Given the description of an element on the screen output the (x, y) to click on. 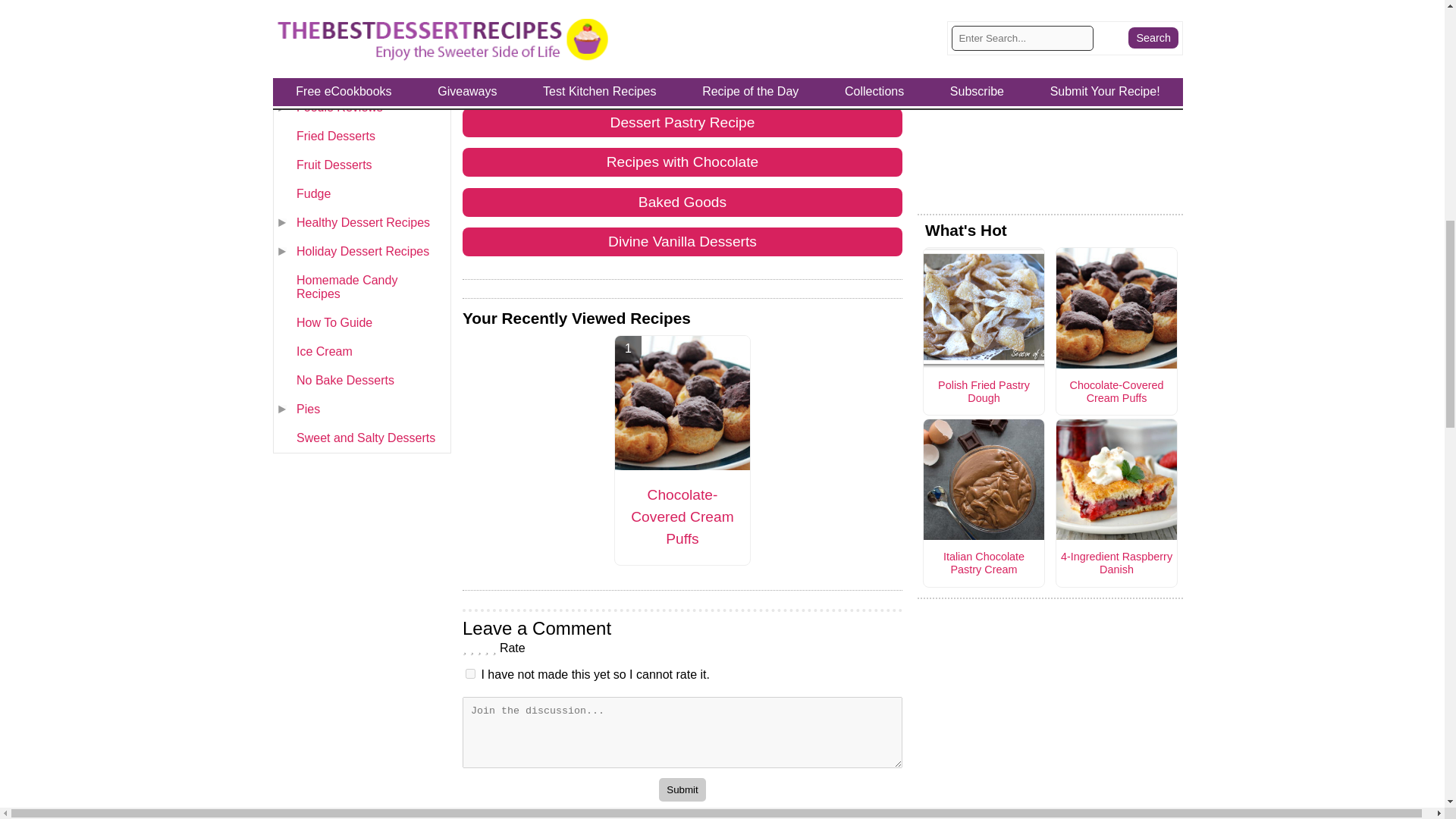
Submit (681, 789)
1 (470, 673)
